Given the description of an element on the screen output the (x, y) to click on. 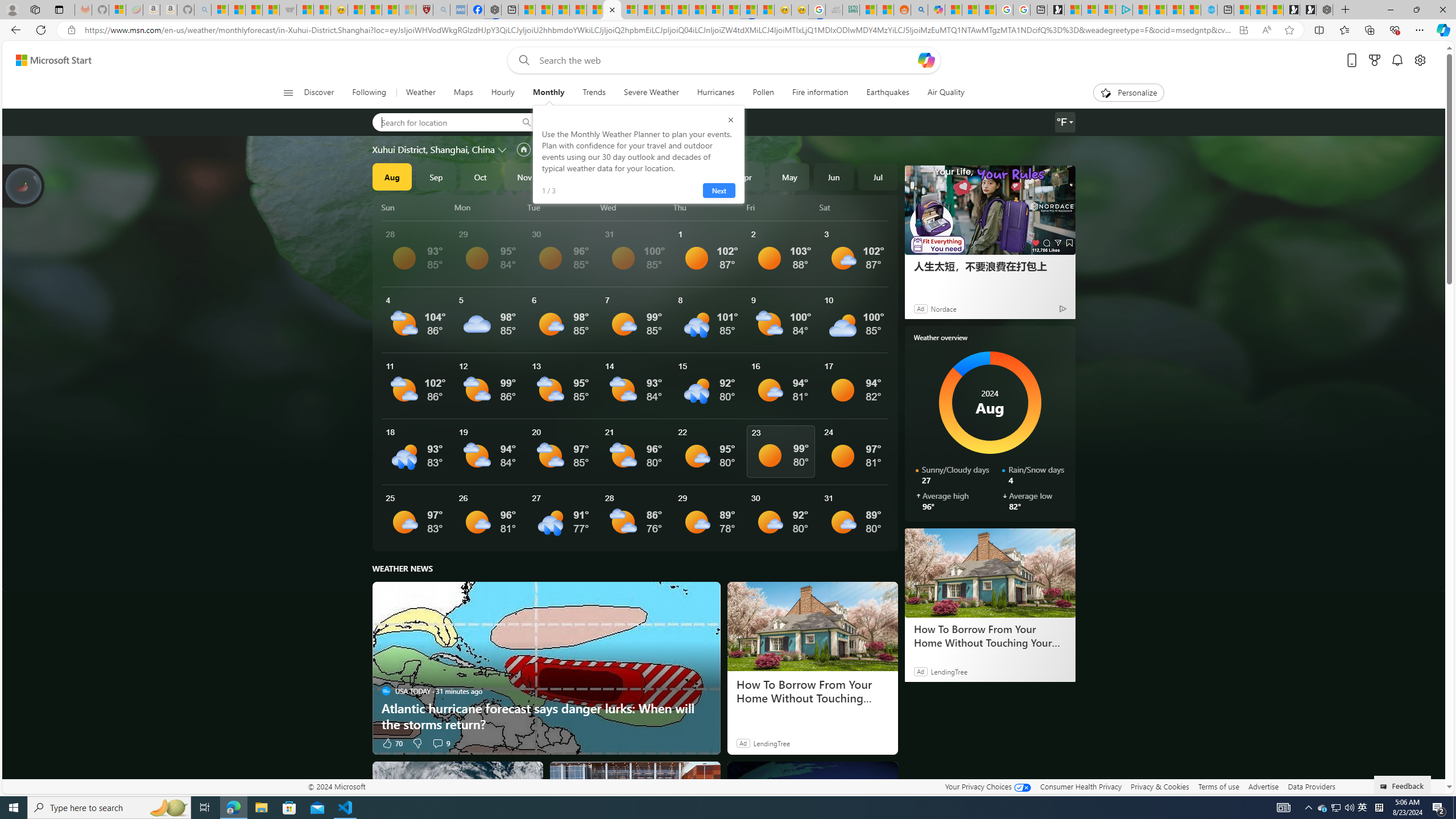
Privacy & Cookies (1160, 785)
Sun (416, 207)
Oct (480, 176)
Dec (568, 176)
Nov (523, 176)
